Given the description of an element on the screen output the (x, y) to click on. 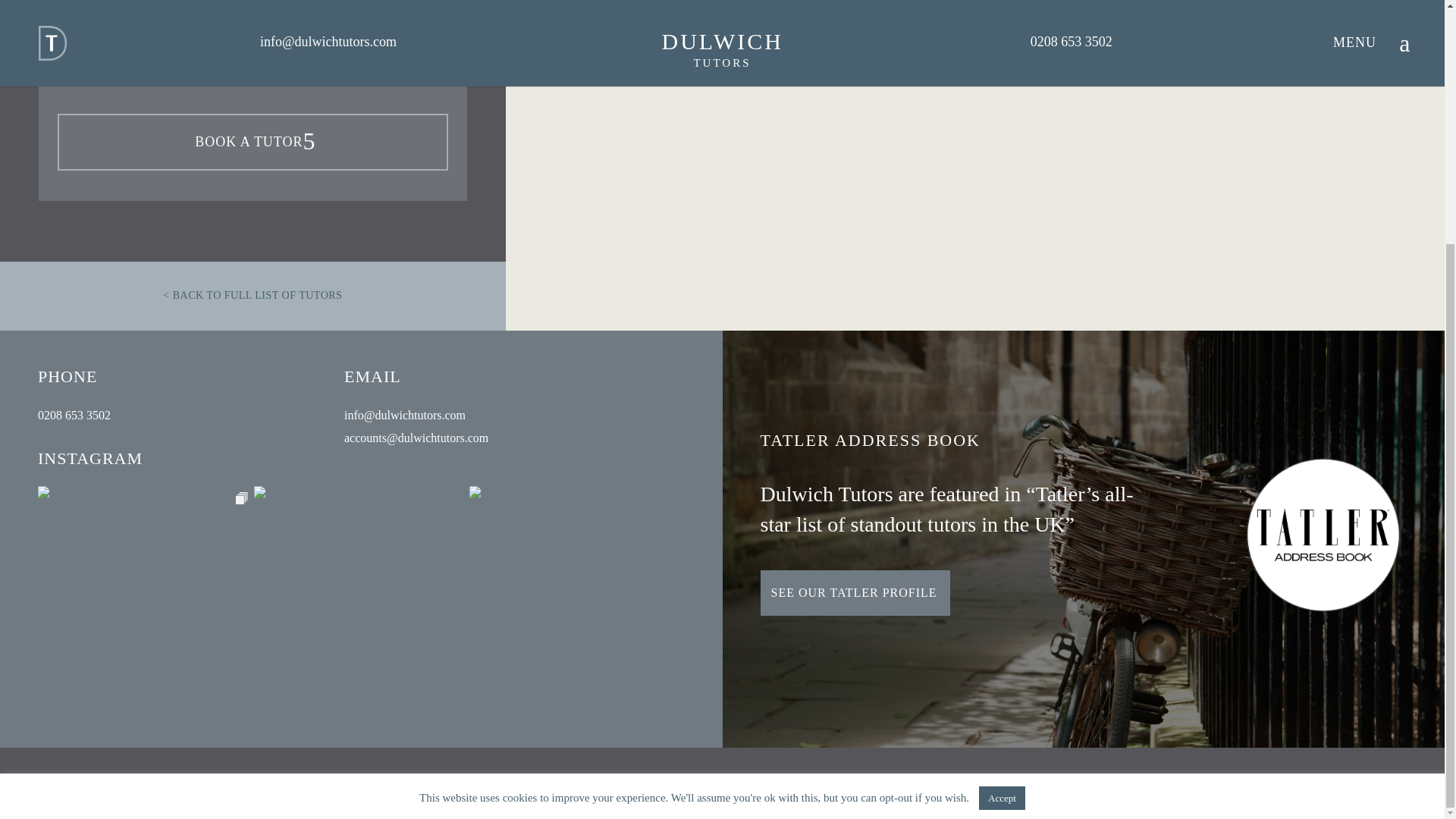
History (321, 48)
View all posts in Music (364, 48)
Music (364, 48)
View all posts in History (321, 48)
View all posts in UCAS (360, 72)
English (210, 48)
View all posts in English (210, 48)
View all posts in Musical Instrument Tuition (203, 72)
View all posts in Sociology (309, 72)
Geography (266, 48)
Sociology (309, 72)
View all posts in Geography (266, 48)
Citizenship (153, 48)
Musical Instrument Tuition (203, 72)
View all posts in Citizenship (153, 48)
